Given the description of an element on the screen output the (x, y) to click on. 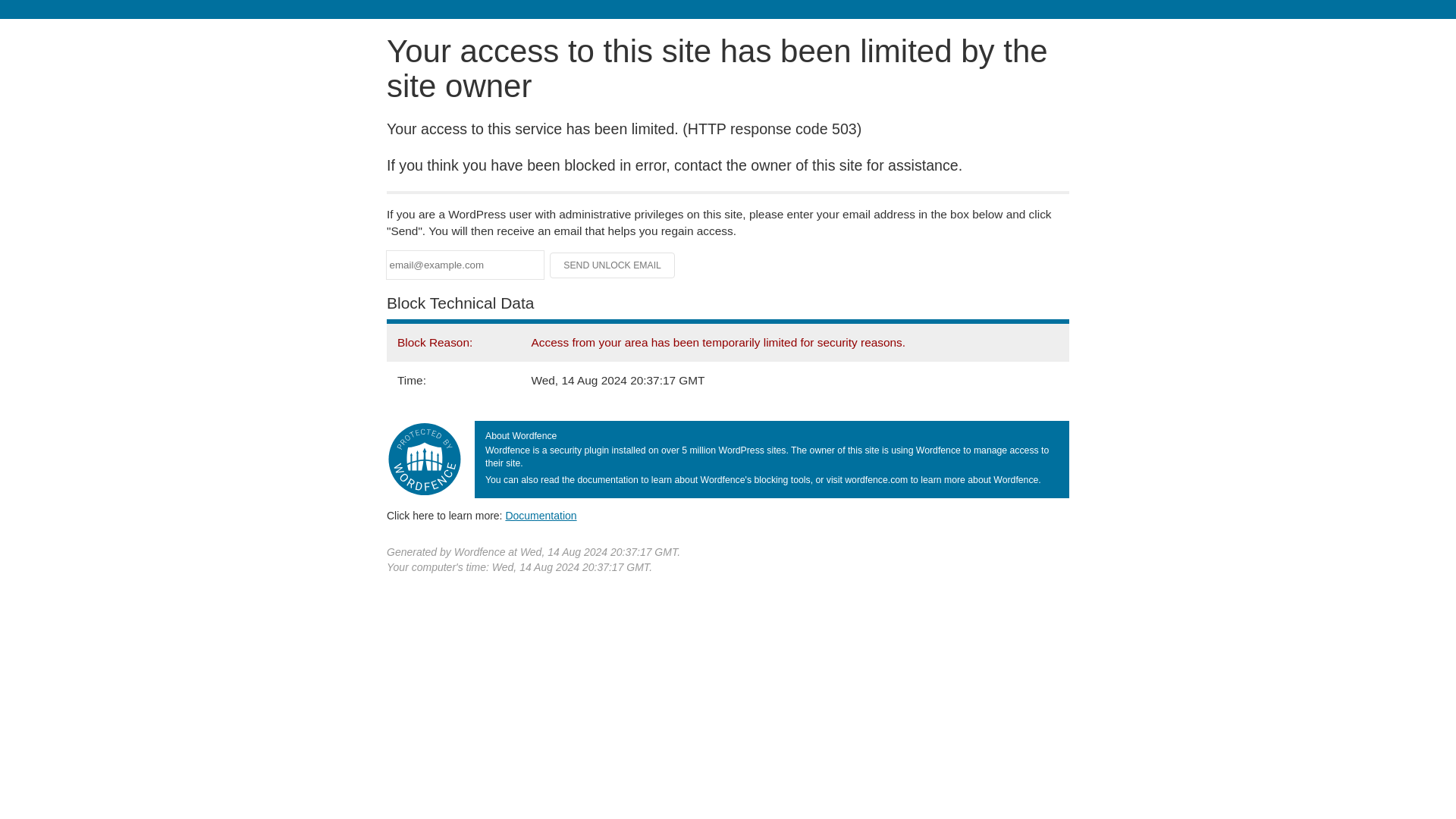
Send Unlock Email (612, 265)
Send Unlock Email (612, 265)
Documentation (540, 515)
